Given the description of an element on the screen output the (x, y) to click on. 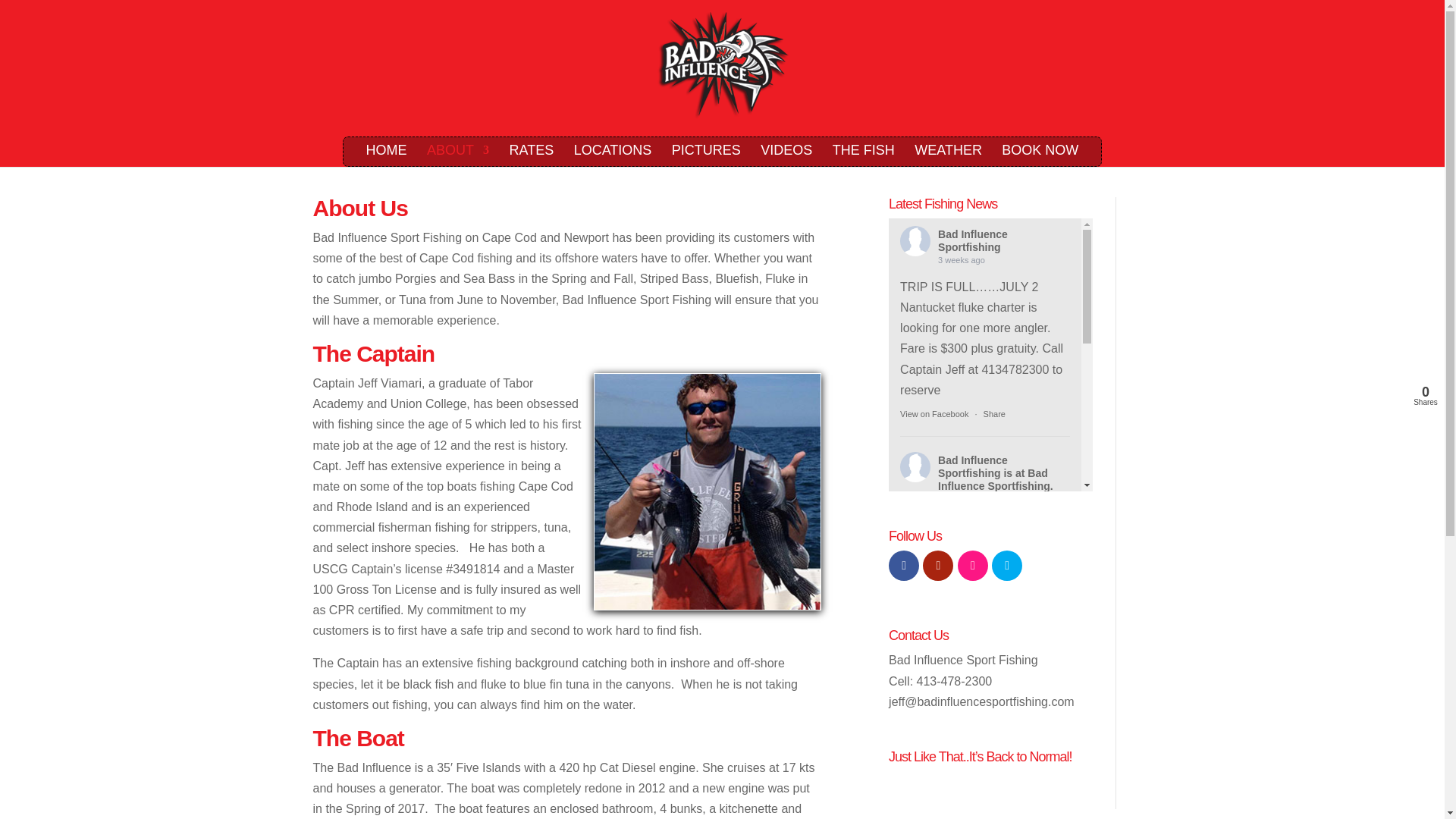
RATES (531, 155)
Share (995, 413)
Share (995, 652)
Share (995, 413)
HOME (386, 155)
LOCATIONS (612, 155)
Bad Influence Sportfishing (972, 466)
View on Facebook (933, 652)
Bad Influence Sportfishing (972, 240)
WEATHER (947, 155)
View on Facebook (933, 413)
THE FISH (863, 155)
View on Facebook (933, 652)
Share (995, 652)
ABOUT (457, 155)
